Given the description of an element on the screen output the (x, y) to click on. 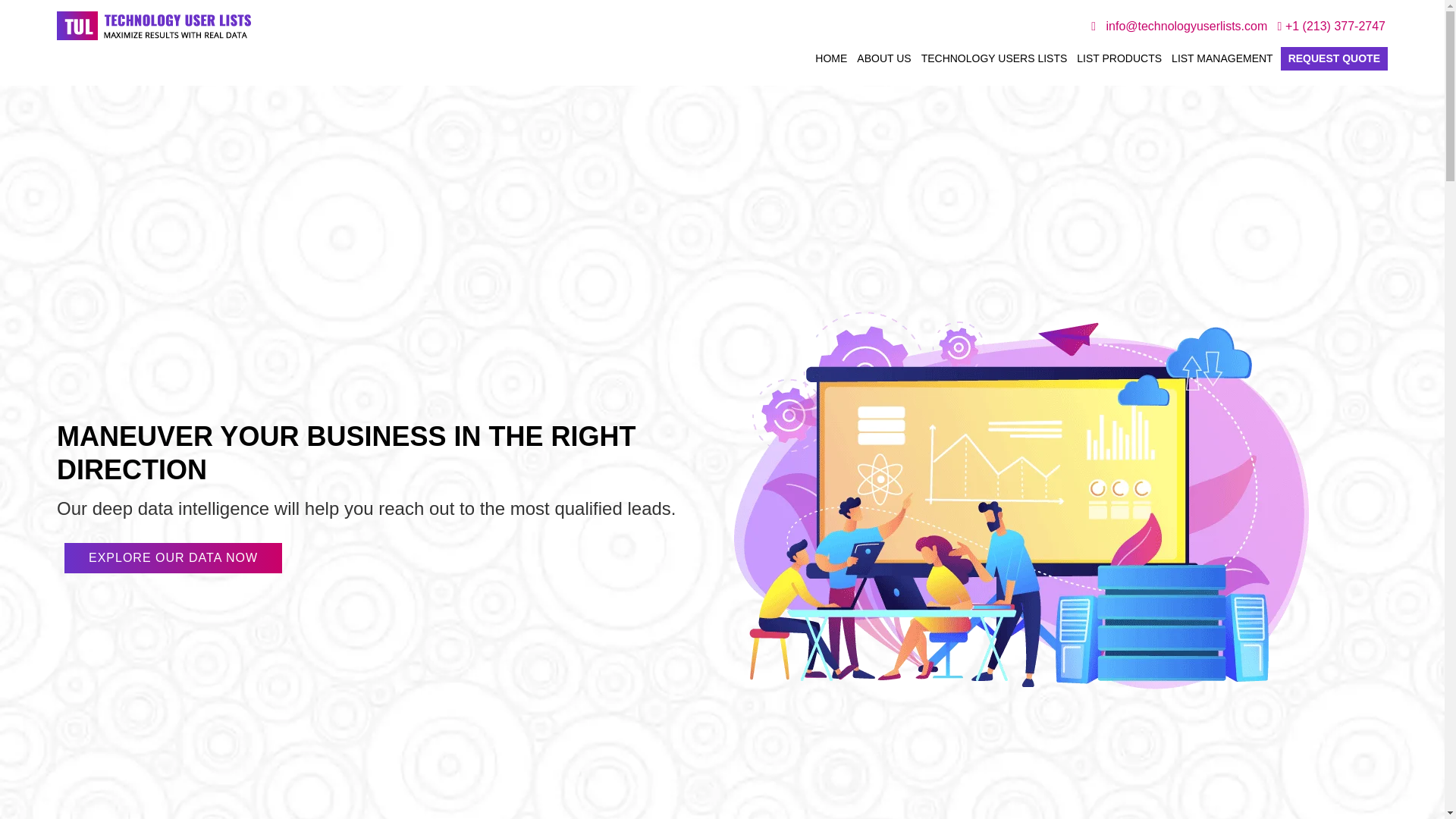
EXPLORE OUR DATA NOW (173, 557)
HOME (830, 60)
TECHNOLOGY USERS LISTS (994, 60)
Technology User Lists Logo (153, 25)
LIST MANAGEMENT (1222, 60)
EXPLORE OUR DATA NOW (173, 557)
REQUEST QUOTE (1334, 58)
ABOUT US (883, 60)
LIST PRODUCTS (1118, 60)
